Given the description of an element on the screen output the (x, y) to click on. 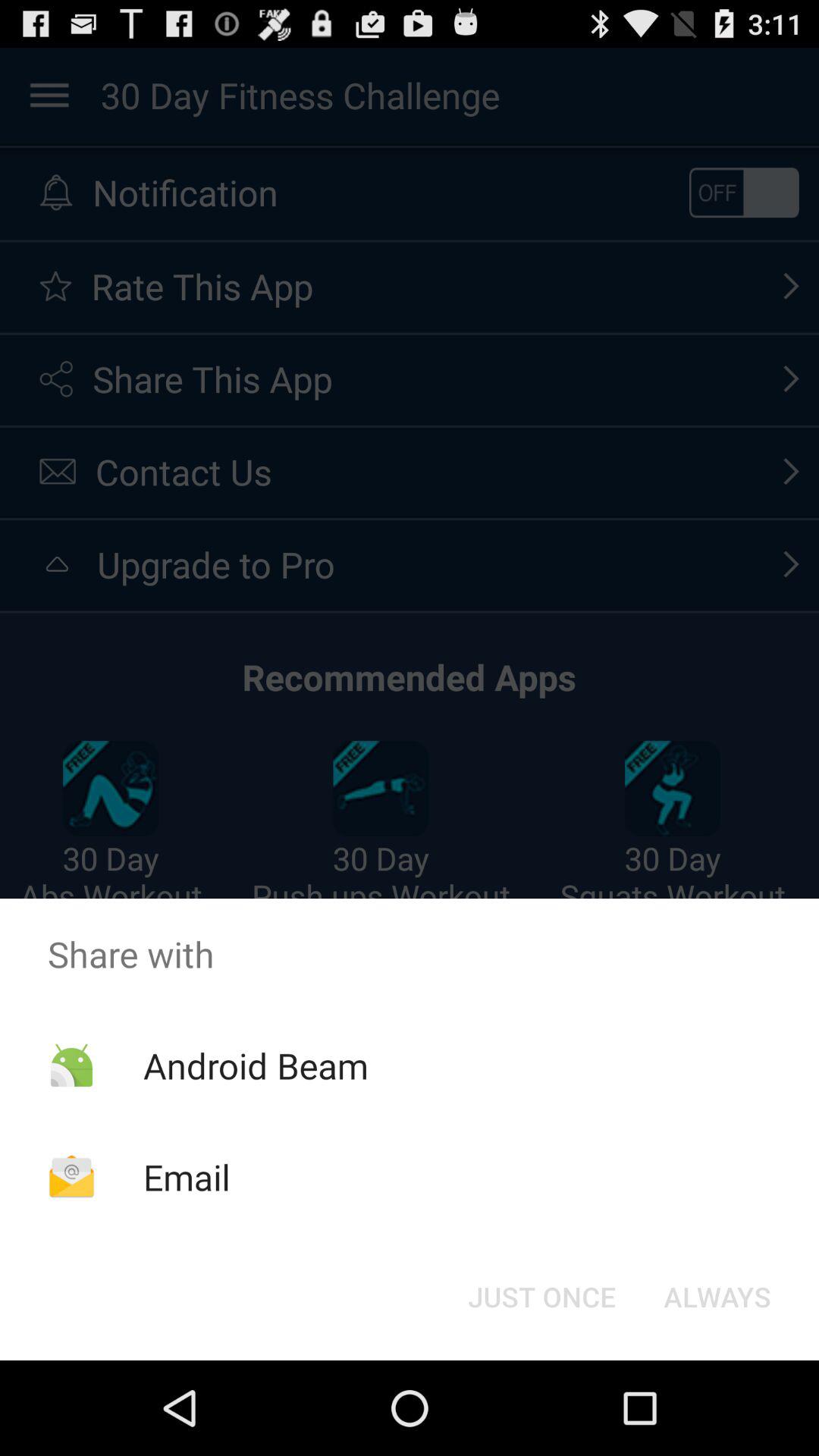
choose icon at the bottom right corner (717, 1296)
